Given the description of an element on the screen output the (x, y) to click on. 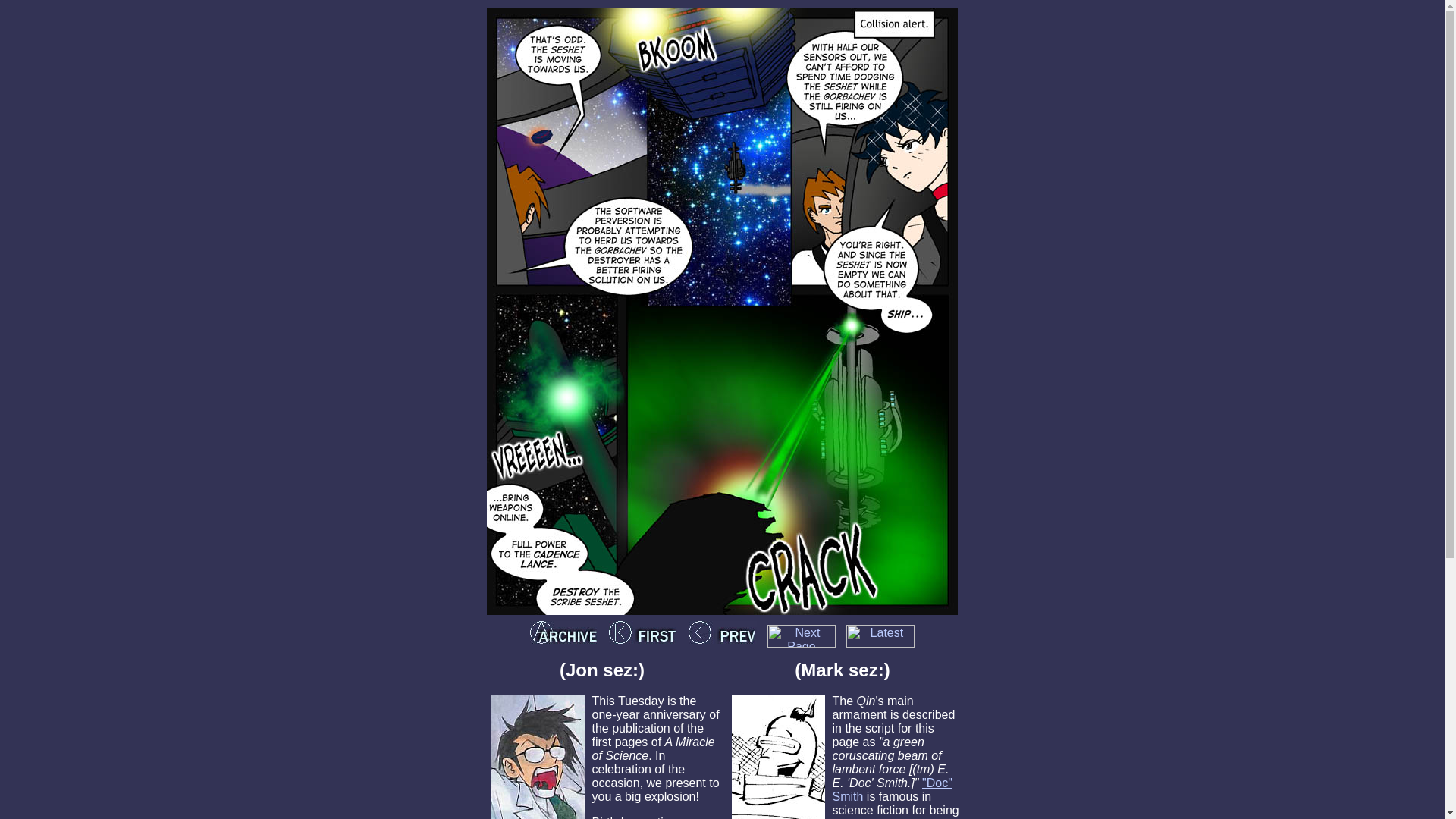
space opera (892, 818)
"Doc" Smith (892, 789)
